Given the description of an element on the screen output the (x, y) to click on. 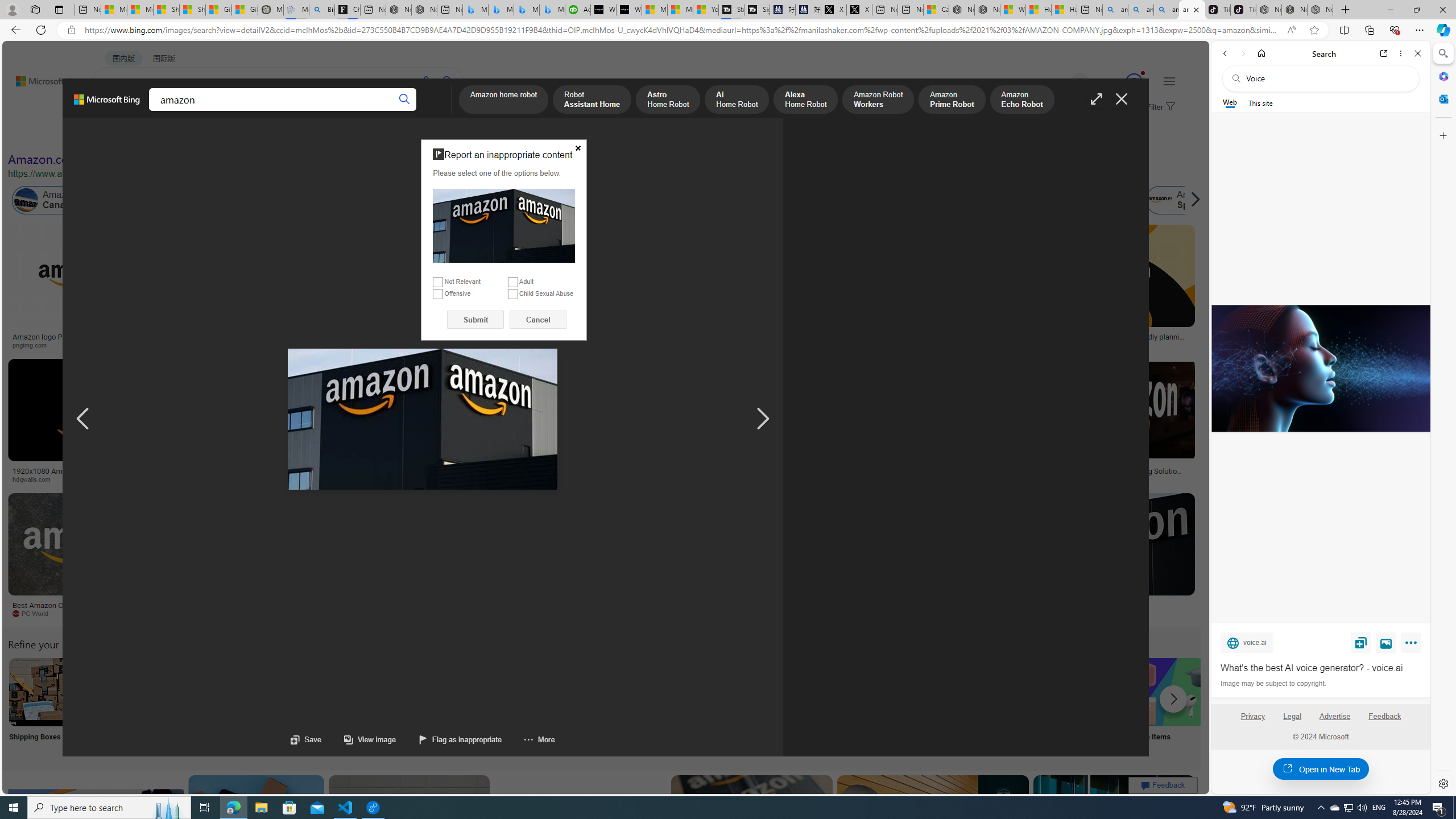
Amazon Clip Art (192, 691)
manilashaker.com (722, 613)
Search the web (1326, 78)
Online Shopping Search (118, 706)
Amazon Prime Shopping Online Prime Shopping Online (944, 706)
Cancel (537, 319)
Amazon Package Delivery Package Delivery (418, 706)
